Given the description of an element on the screen output the (x, y) to click on. 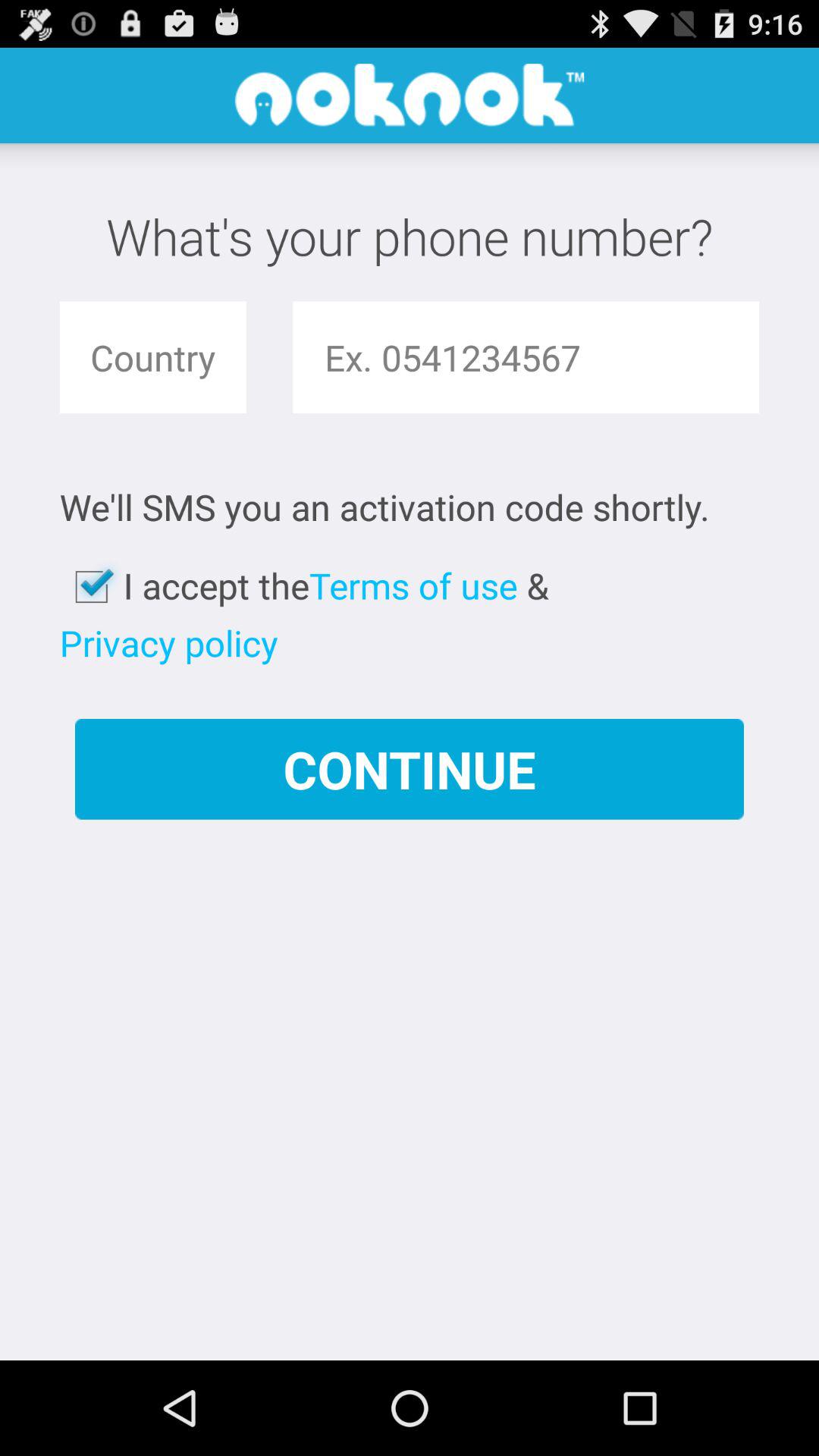
turn on the item above the continue icon (413, 585)
